Given the description of an element on the screen output the (x, y) to click on. 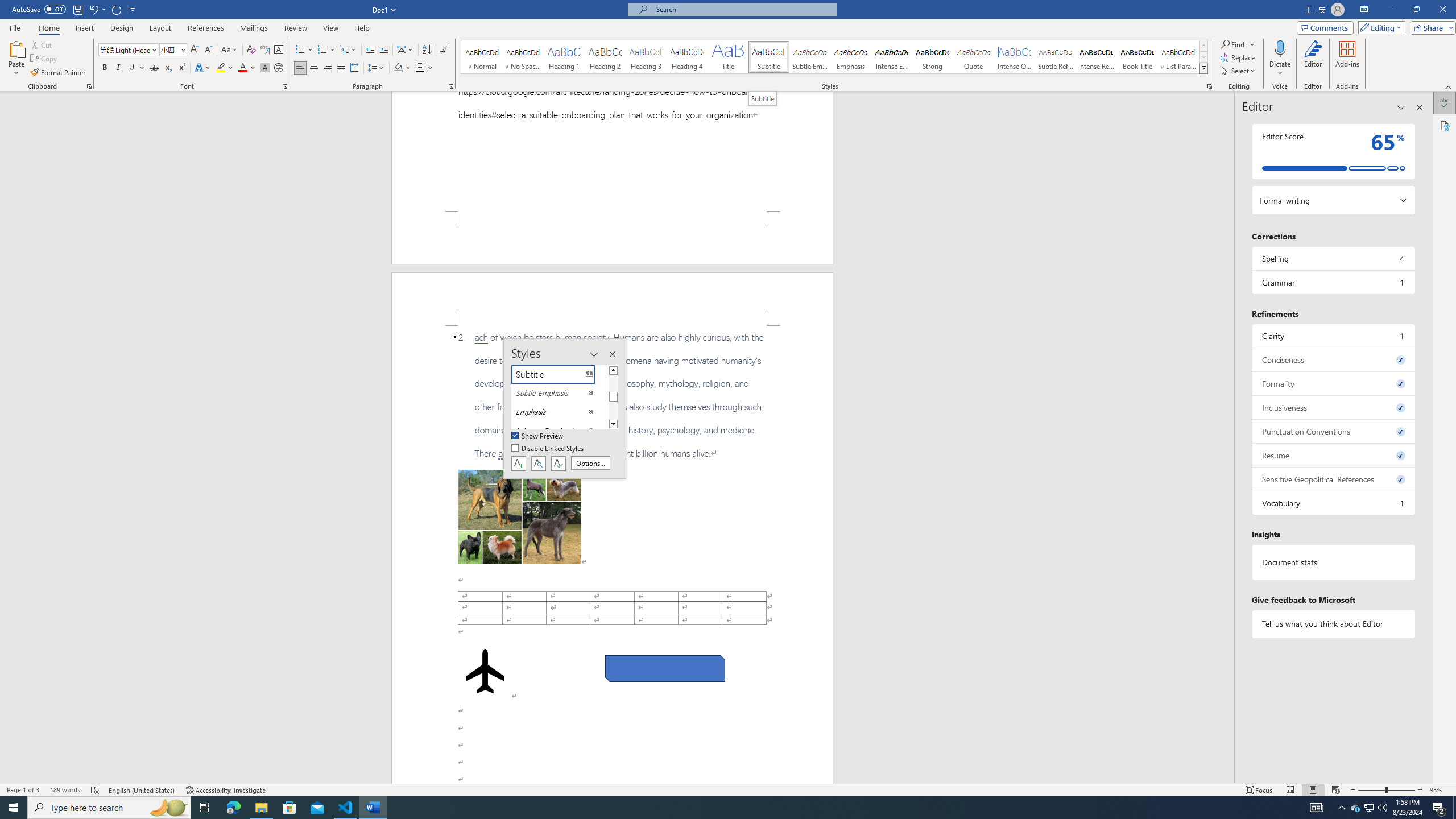
Underline (131, 67)
Heading 4 (686, 56)
Close (1442, 9)
Rectangle: Diagonal Corners Snipped 2 (665, 668)
Italic (118, 67)
Emphasis (849, 56)
Asian Layout (405, 49)
Header -Section 1- (611, 298)
Class: NetUIScrollBar (1229, 437)
Layout (160, 28)
Borders (424, 67)
Focus  (1258, 790)
Paragraph... (450, 85)
Subscript (167, 67)
